Given the description of an element on the screen output the (x, y) to click on. 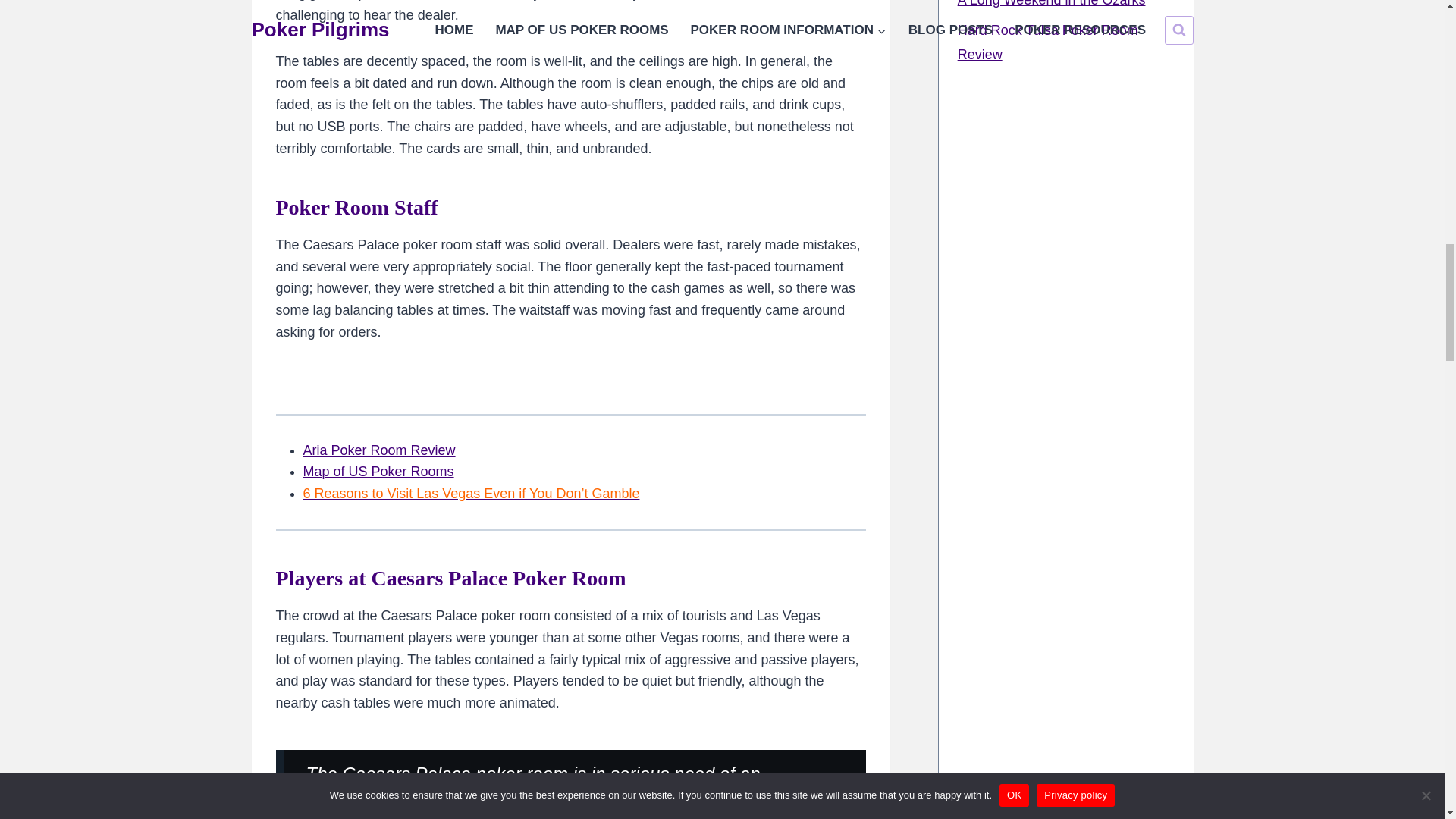
PokerCoaching.com (1066, 415)
Map of US Poker Rooms (378, 471)
Aria Poker Room Review (378, 450)
